Given the description of an element on the screen output the (x, y) to click on. 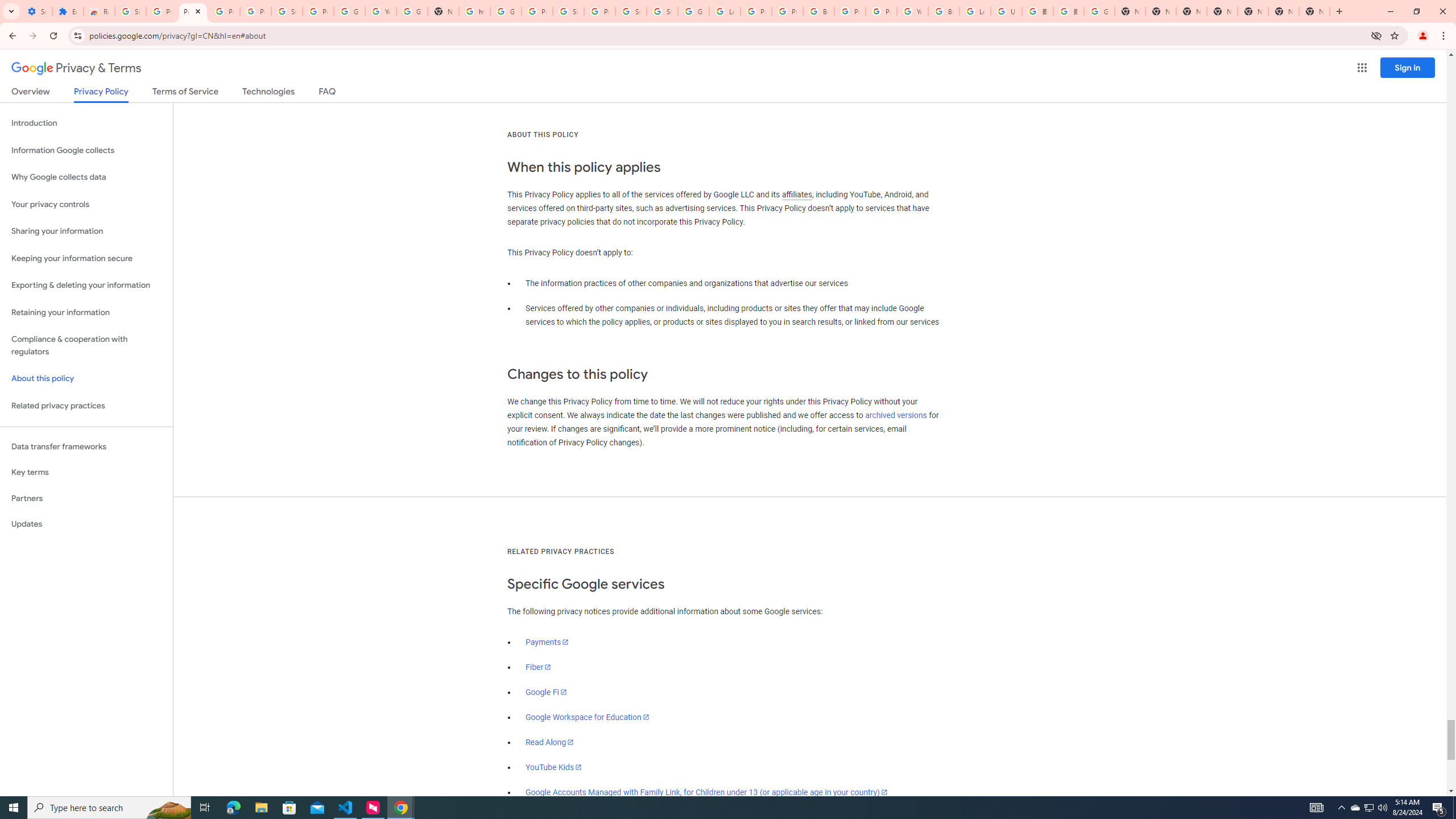
affiliates (796, 194)
Google Account (349, 11)
Reviews: Helix Fruit Jump Arcade Game (98, 11)
Google Images (1098, 11)
Extensions (67, 11)
Your privacy controls (86, 204)
Keeping your information secure (86, 258)
Sign in - Google Accounts (286, 11)
